Given the description of an element on the screen output the (x, y) to click on. 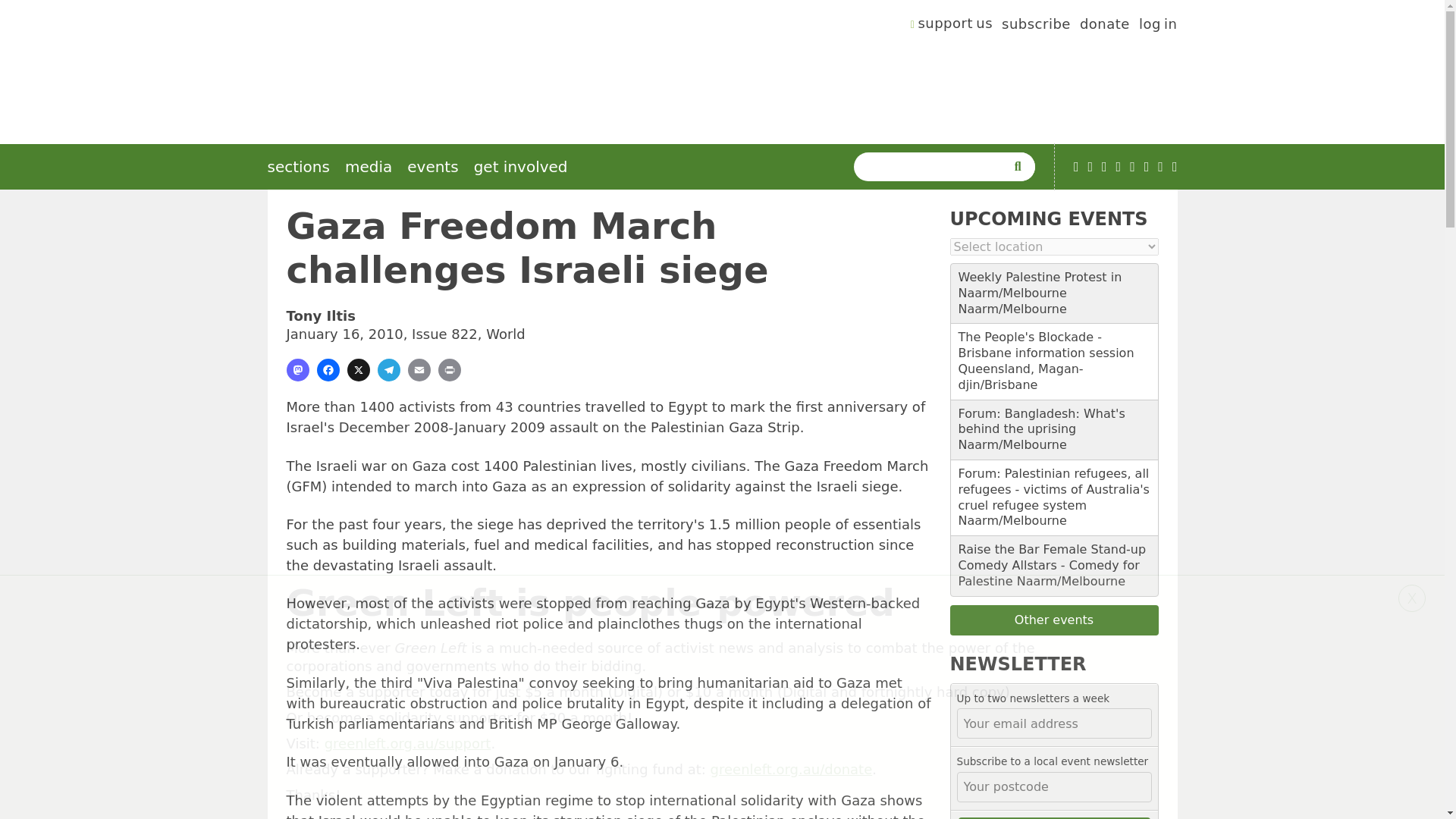
support us (951, 26)
Share on Telegram (388, 369)
subscribe (1035, 26)
log in (1157, 26)
Share on X (358, 369)
events (432, 166)
Share on Mastondon (297, 369)
Print (449, 369)
share via email (418, 369)
